Given the description of an element on the screen output the (x, y) to click on. 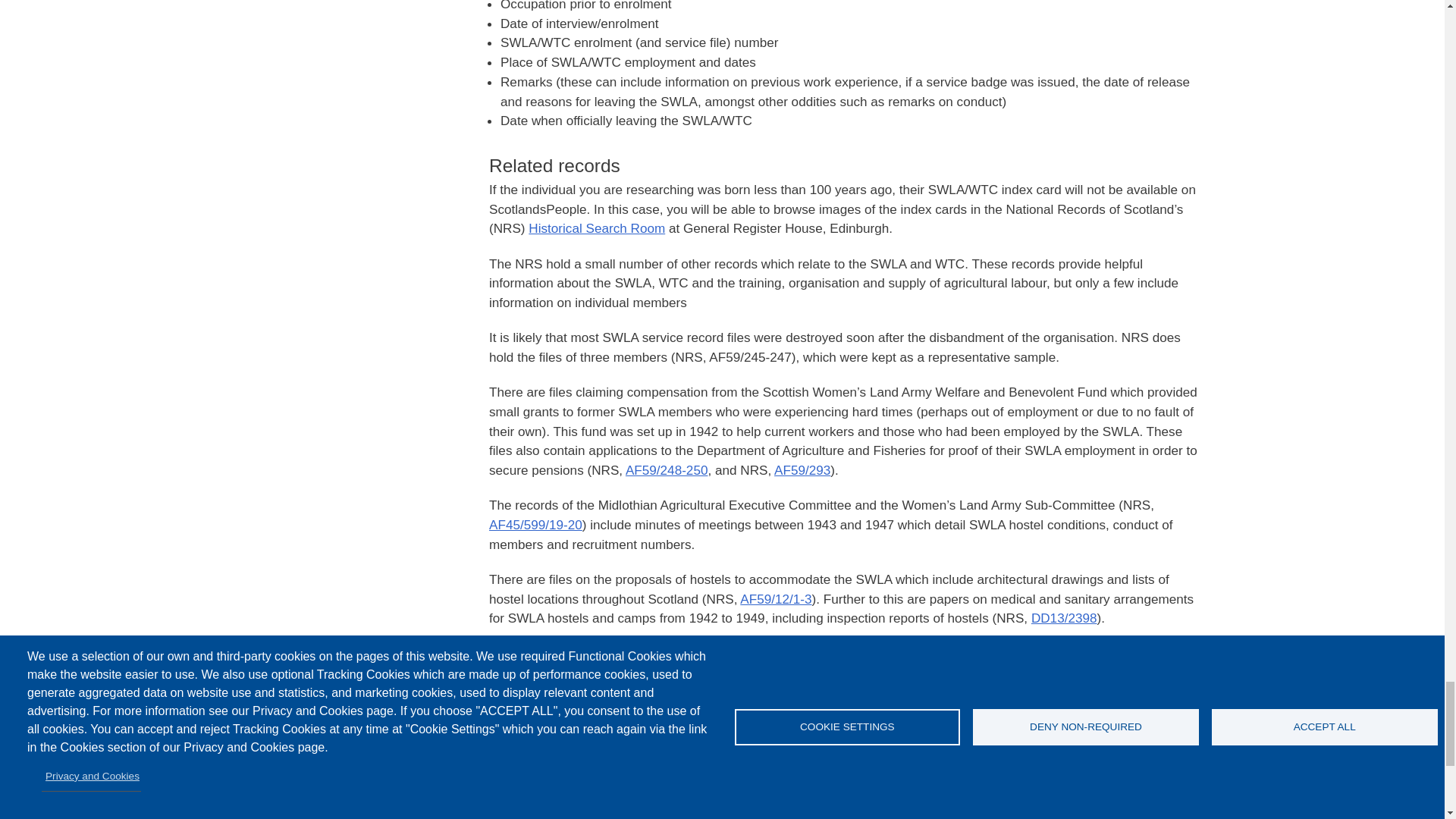
Link to NRS catalogue entry (801, 469)
Link to NRS catalogue entry (1063, 617)
searched and viewed online (755, 796)
Women's Land Army record guide (807, 742)
Link to NRS catalogue entry (774, 598)
Historical Search Room (596, 227)
Link to NRS catalogue entry (666, 469)
Link to NRS catalogue entry (535, 524)
